Given the description of an element on the screen output the (x, y) to click on. 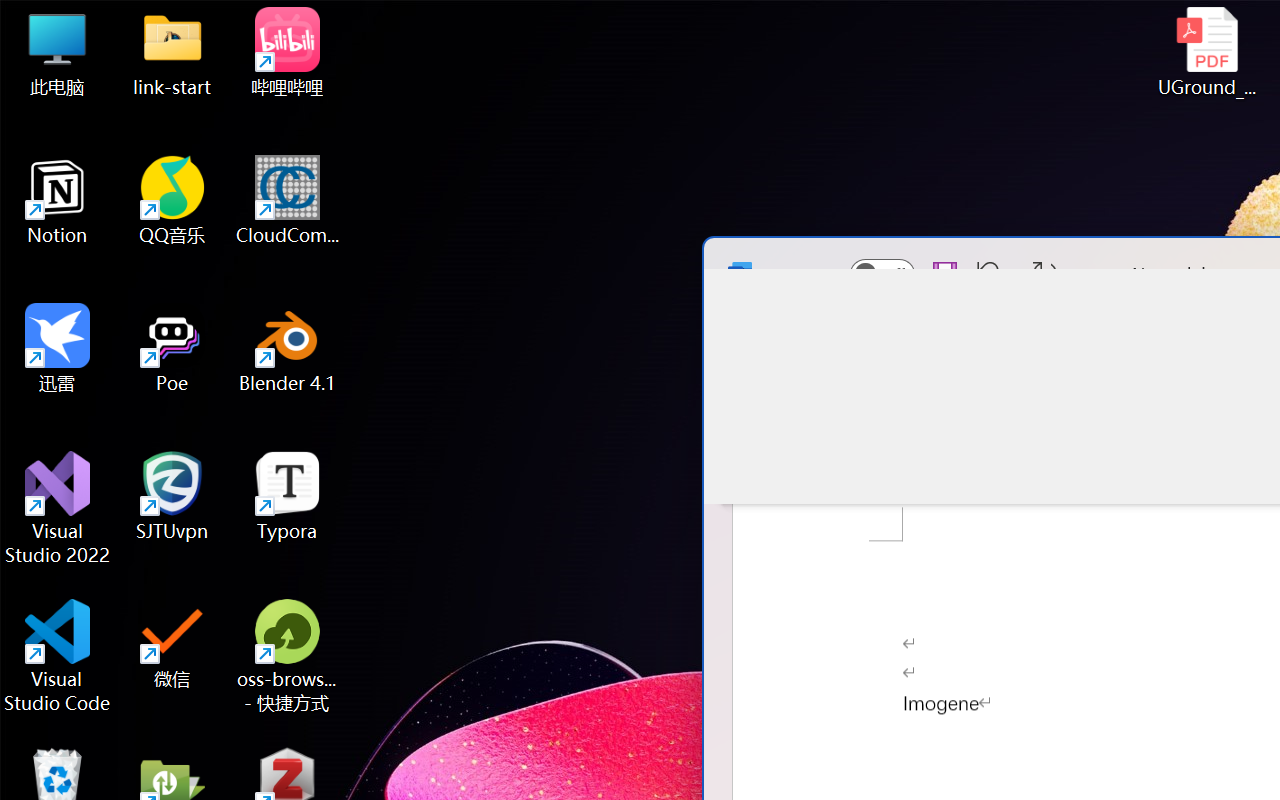
Pencil: Gray, 1 mm (1201, 411)
Typora (287, 496)
Poe (172, 348)
Undo Paragraph Formatting (994, 273)
Blender 4.1 (287, 348)
CloudCompare (287, 200)
UGround_paper.pdf (1206, 52)
